Given the description of an element on the screen output the (x, y) to click on. 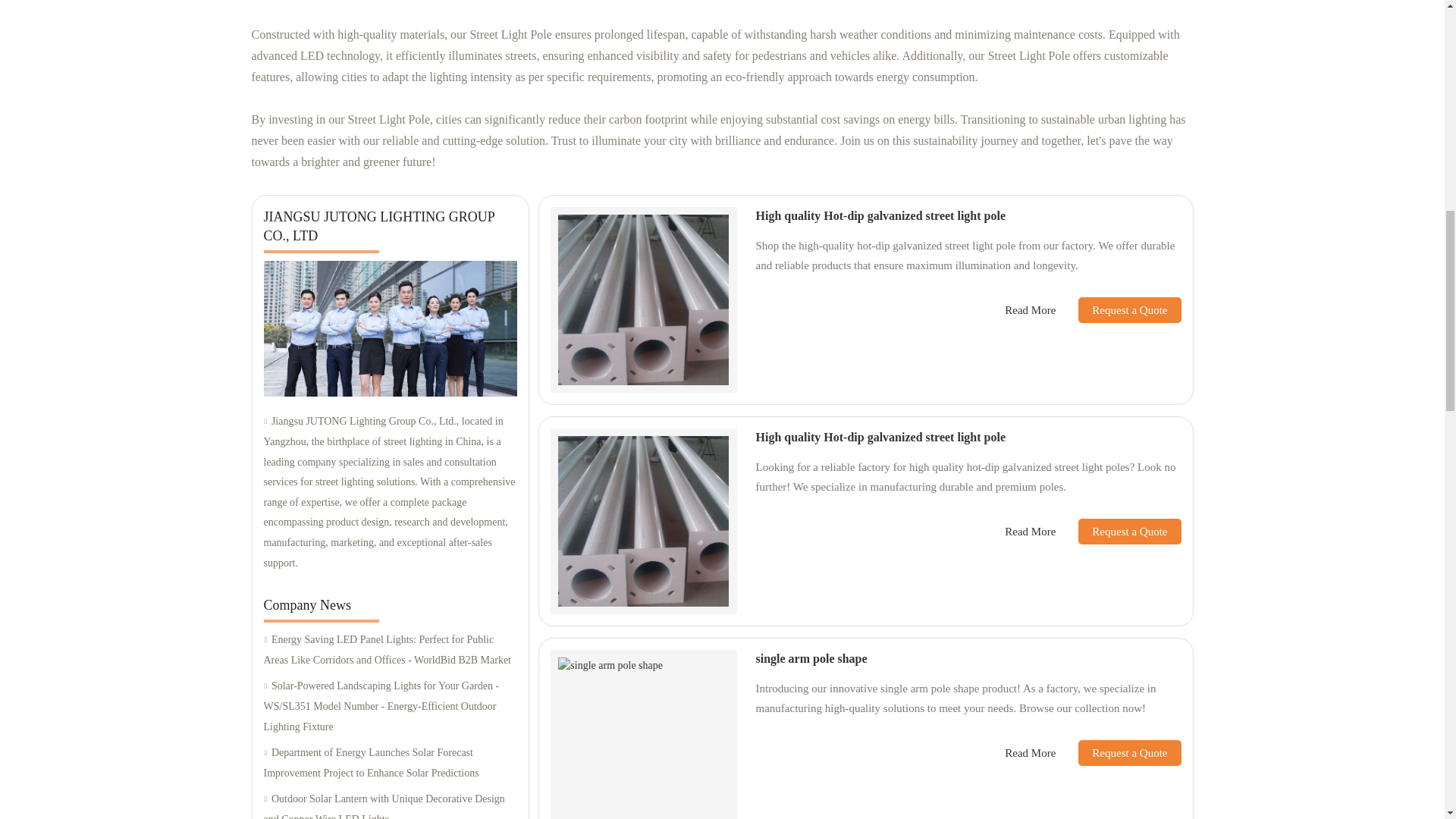
Read More (1029, 310)
Request a Quote (1117, 309)
High quality Hot-dip galvanized street light pole (880, 215)
